Given the description of an element on the screen output the (x, y) to click on. 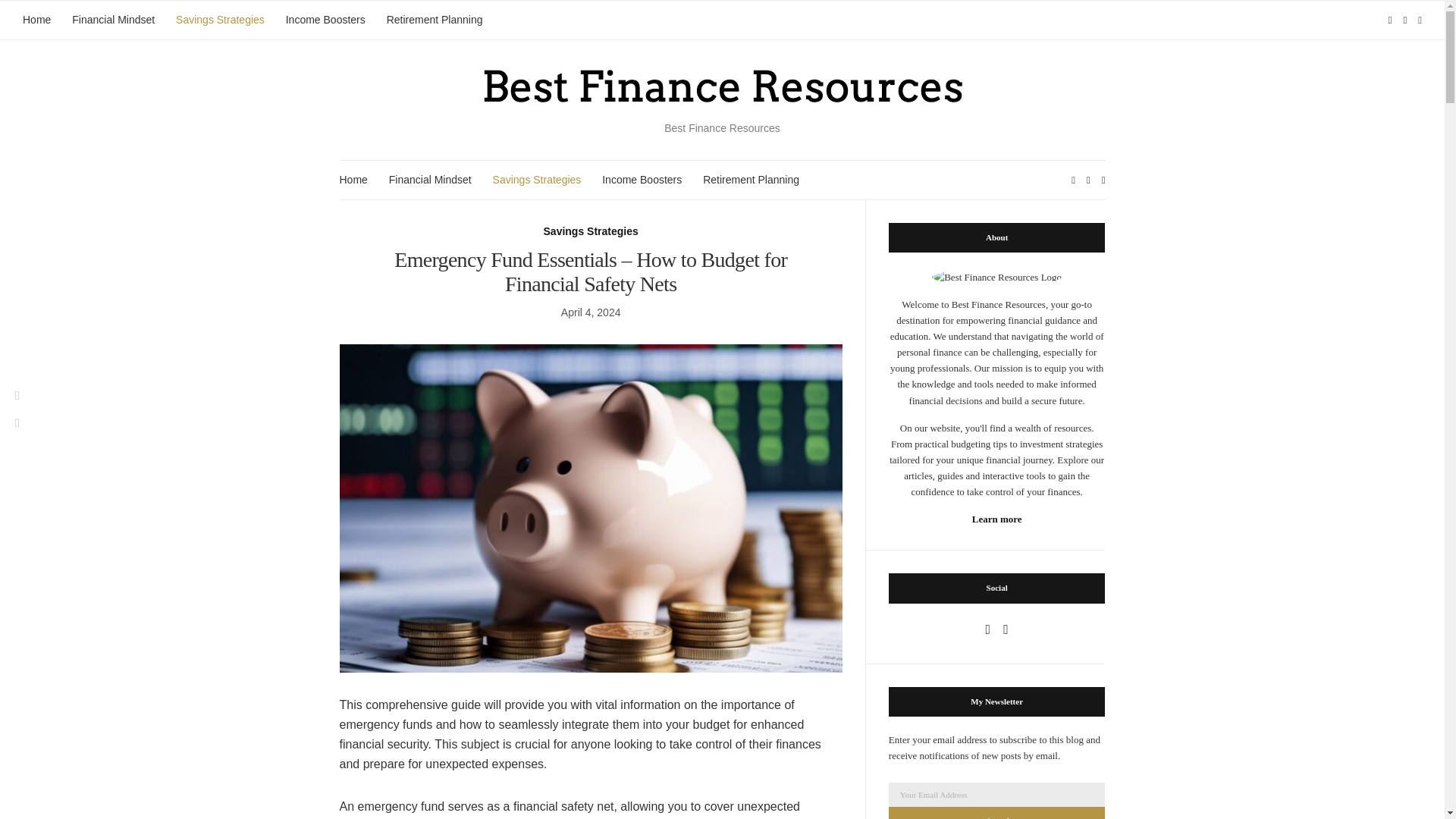
Financial Mindset (112, 19)
Financial Mindset (429, 180)
Retirement Planning (751, 180)
Retirement Planning (435, 19)
Home (36, 19)
Savings Strategies (536, 180)
Income Boosters (325, 19)
Expand search form (1420, 19)
Savings Strategies (591, 231)
Savings Strategies (220, 19)
Expand search form (1103, 179)
Home (353, 180)
Income Boosters (641, 180)
